Given the description of an element on the screen output the (x, y) to click on. 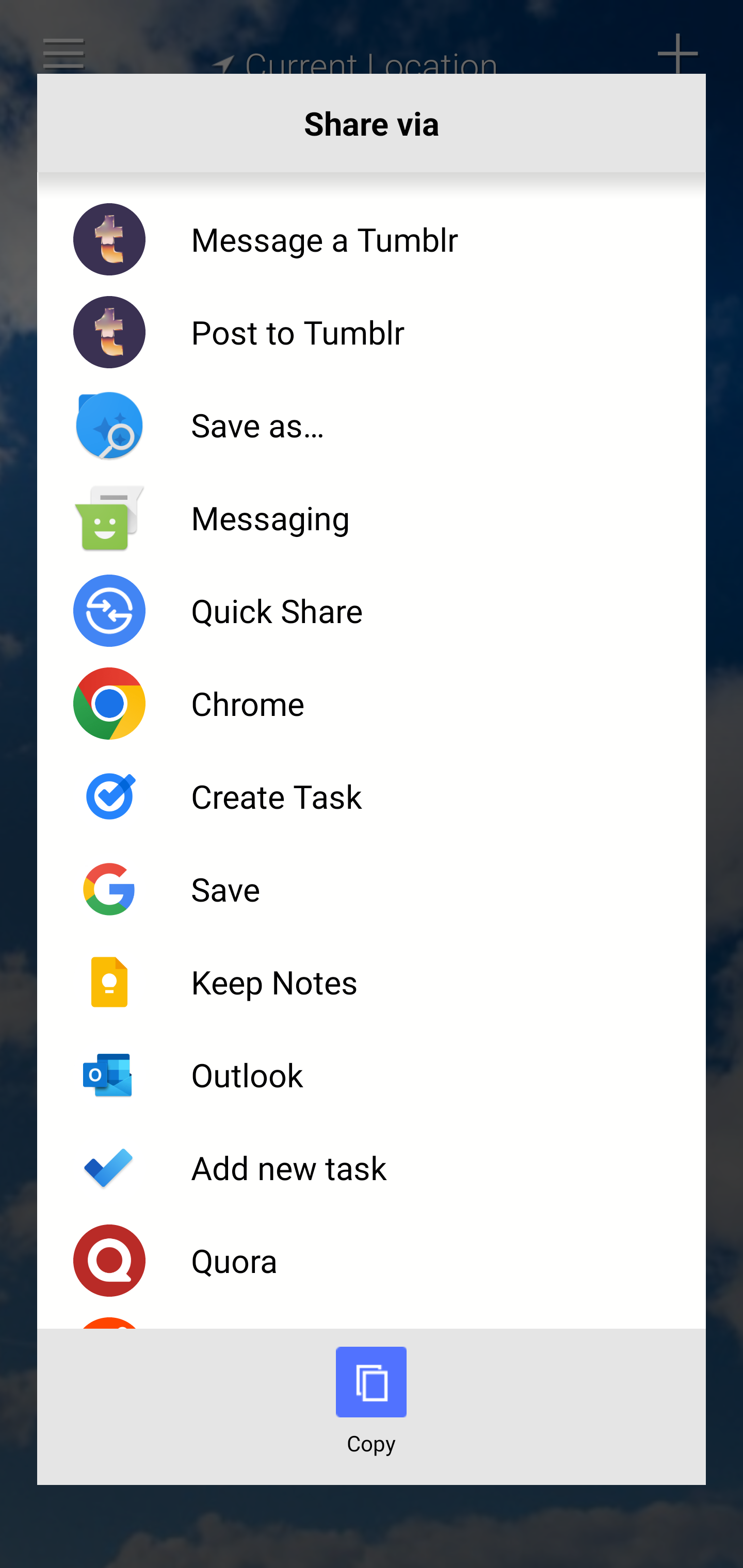
Message a Tumblr (371, 239)
Post to Tumblr (371, 331)
Save as… (371, 424)
Messaging (371, 516)
Quick Share (371, 610)
Chrome (371, 703)
Create Task (371, 796)
Save (371, 888)
Keep Notes (371, 981)
Outlook (371, 1074)
Add new task (371, 1167)
Quora (371, 1260)
Copy (371, 1414)
